Given the description of an element on the screen output the (x, y) to click on. 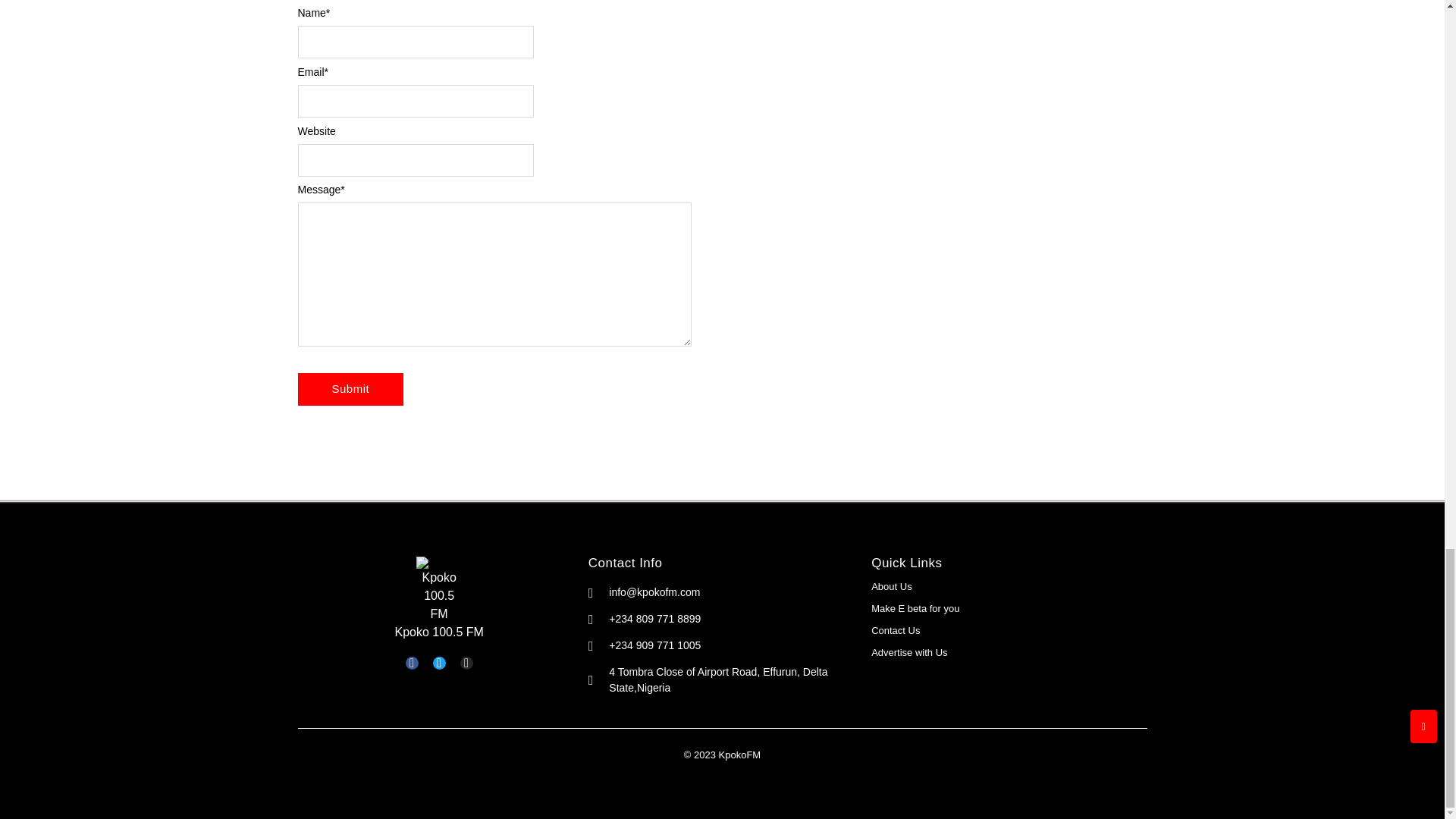
Submit (350, 389)
